Given the description of an element on the screen output the (x, y) to click on. 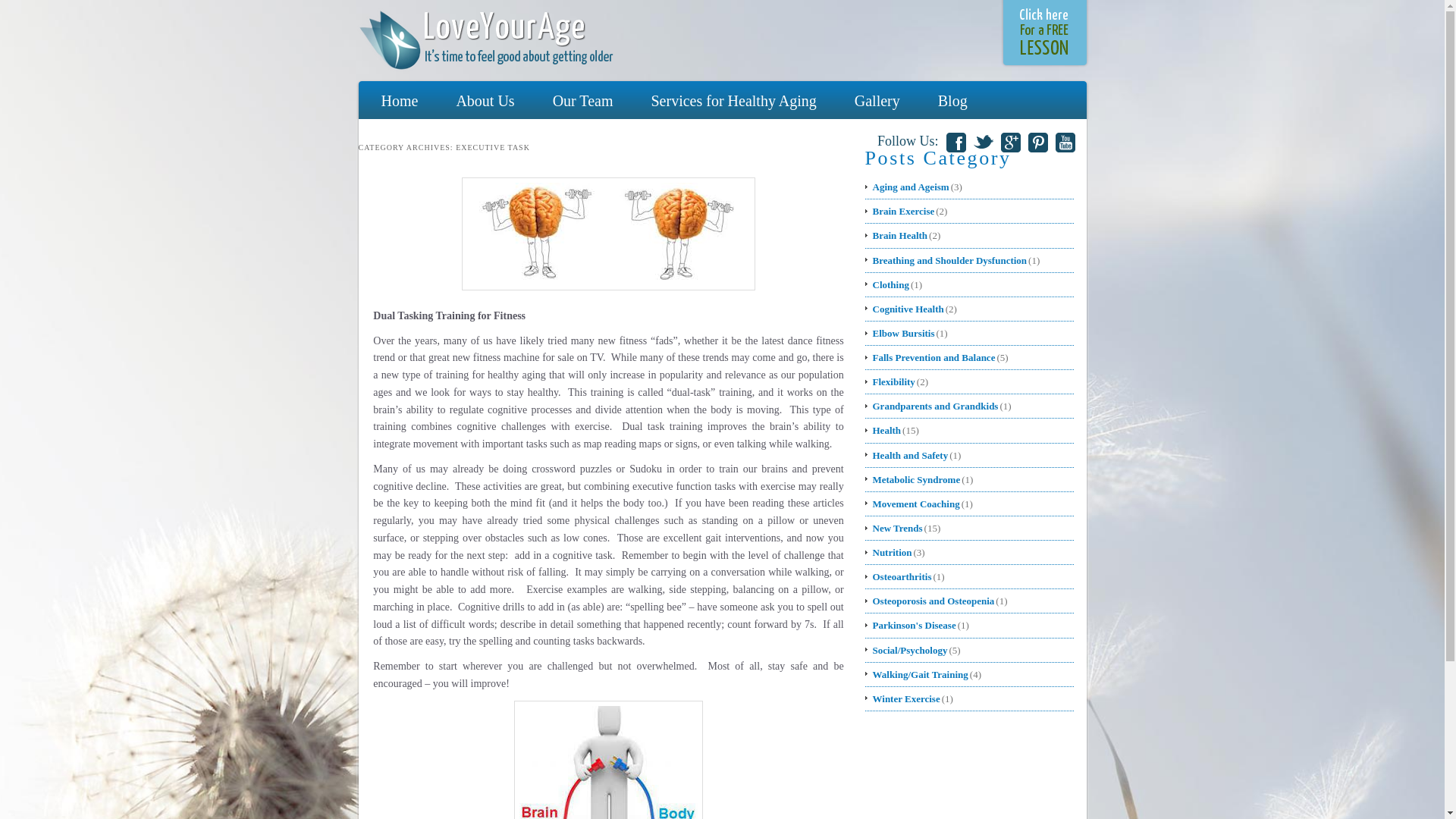
Elbow Bursitis (900, 333)
Brain Exercise (900, 211)
Clothing (887, 284)
Falls Prevention and Balance (929, 357)
Resources (411, 135)
Aging and Ageism (907, 186)
Our Team (582, 100)
Gallery (877, 100)
Breathing and Shoulder Dysfunction (945, 260)
Love Your Age (485, 39)
